Given the description of an element on the screen output the (x, y) to click on. 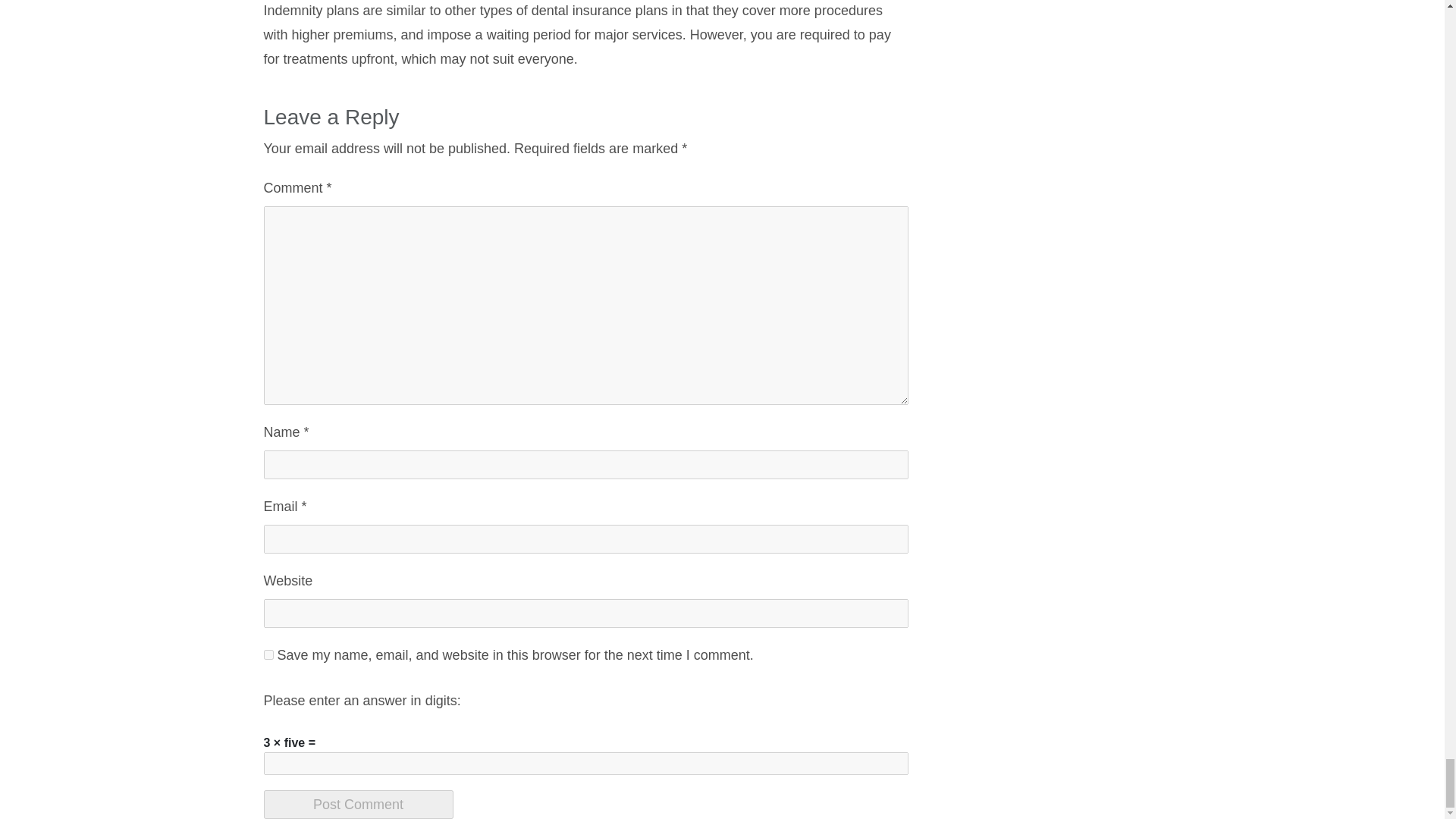
yes (268, 655)
